Given the description of an element on the screen output the (x, y) to click on. 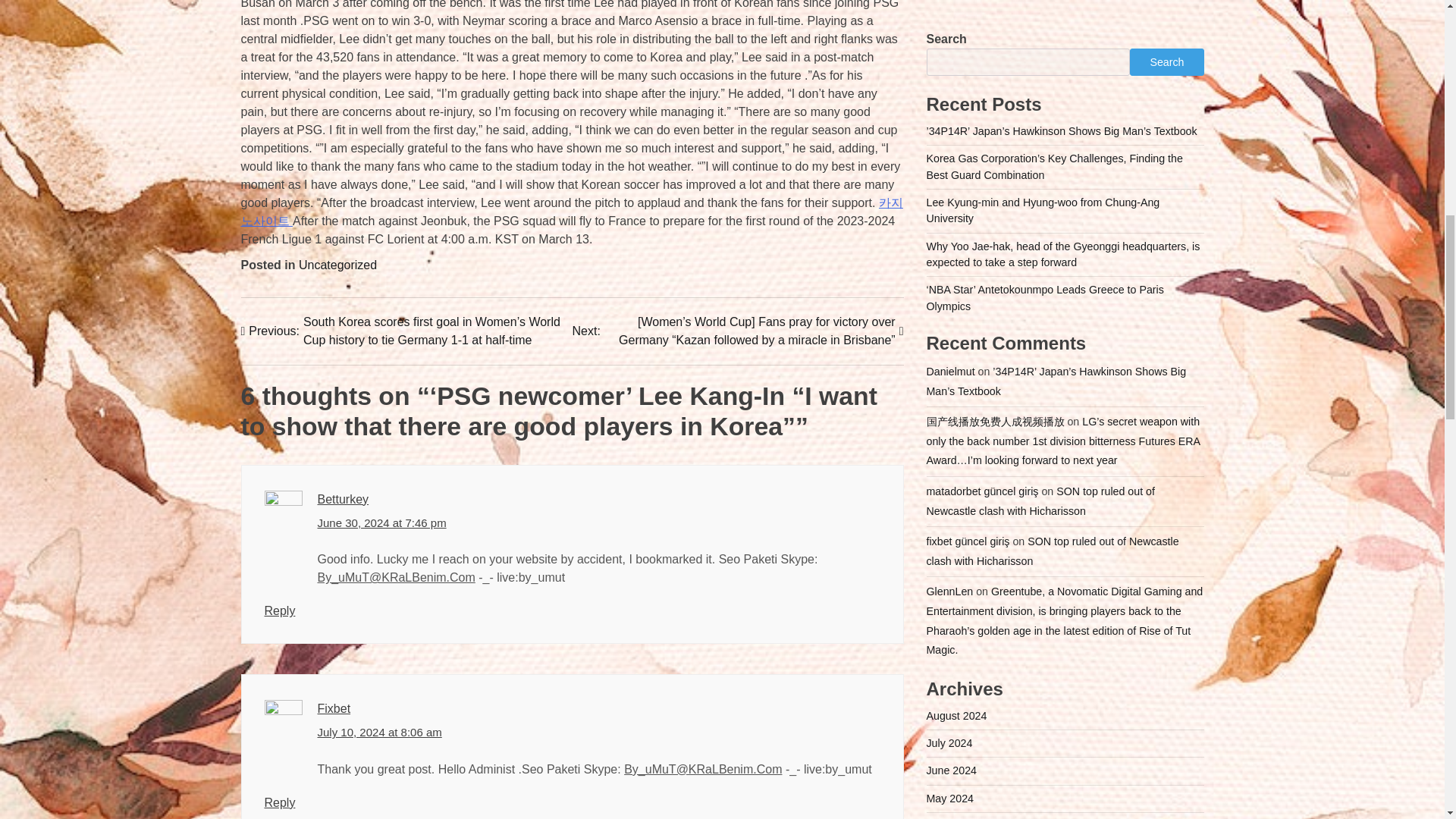
Reply (279, 610)
July 10, 2024 at 8:06 am (379, 732)
Fixbet (333, 707)
June 30, 2024 at 7:46 pm (381, 523)
Reply (279, 802)
Betturkey (342, 499)
Uncategorized (337, 264)
